Given the description of an element on the screen output the (x, y) to click on. 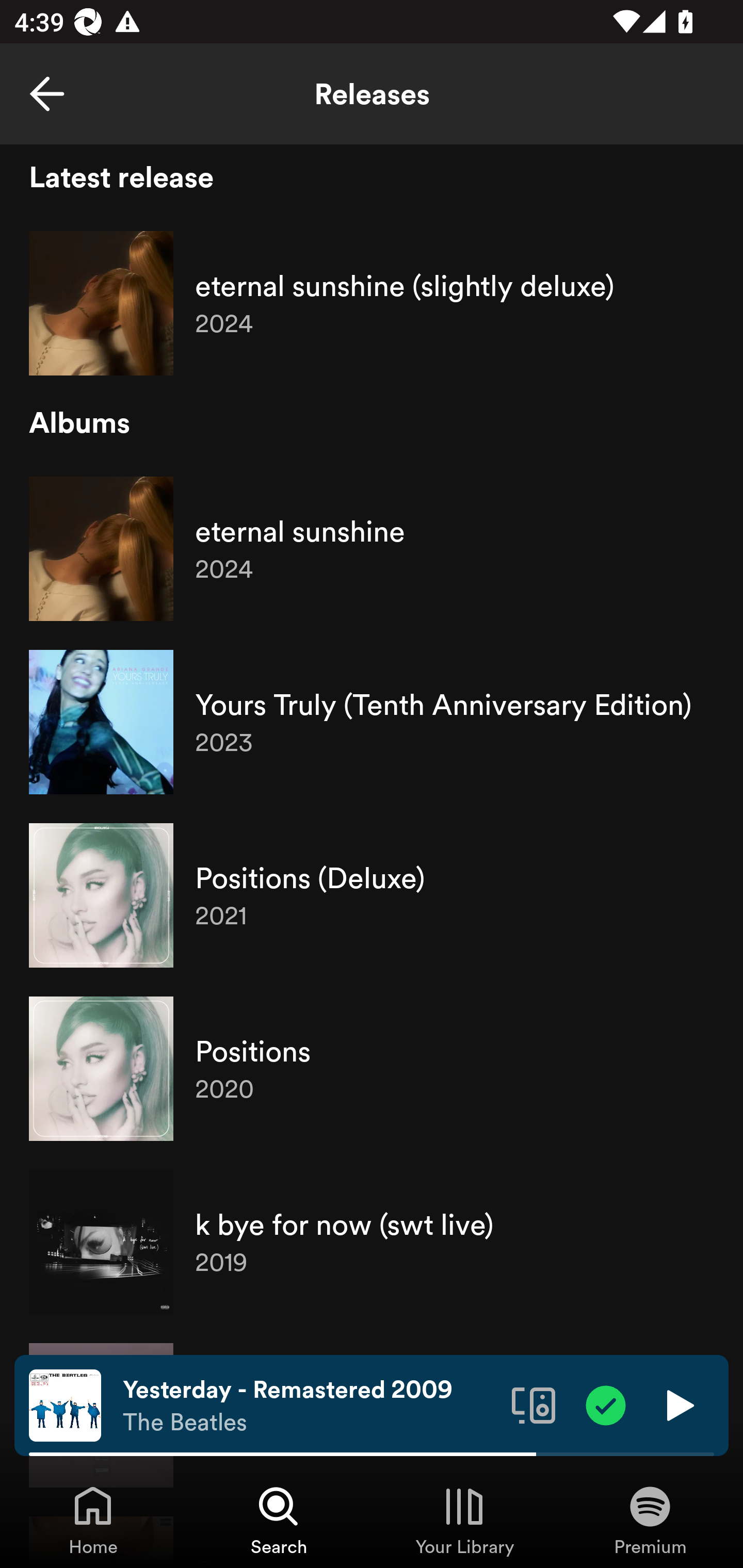
Back (46, 93)
eternal sunshine (slightly deluxe) 2024 (371, 303)
eternal sunshine 2024 (371, 548)
Yours Truly (Tenth Anniversary Edition) 2023 (371, 722)
Positions (Deluxe) 2021 (371, 895)
Positions 2020 (371, 1068)
k bye for now (swt live) 2019 (371, 1241)
Yesterday - Remastered 2009 The Beatles (309, 1405)
The cover art of the currently playing track (64, 1404)
Connect to a device. Opens the devices menu (533, 1404)
Item added (605, 1404)
Play (677, 1404)
Home, Tab 1 of 4 Home Home (92, 1519)
Search, Tab 2 of 4 Search Search (278, 1519)
Your Library, Tab 3 of 4 Your Library Your Library (464, 1519)
Premium, Tab 4 of 4 Premium Premium (650, 1519)
